Given the description of an element on the screen output the (x, y) to click on. 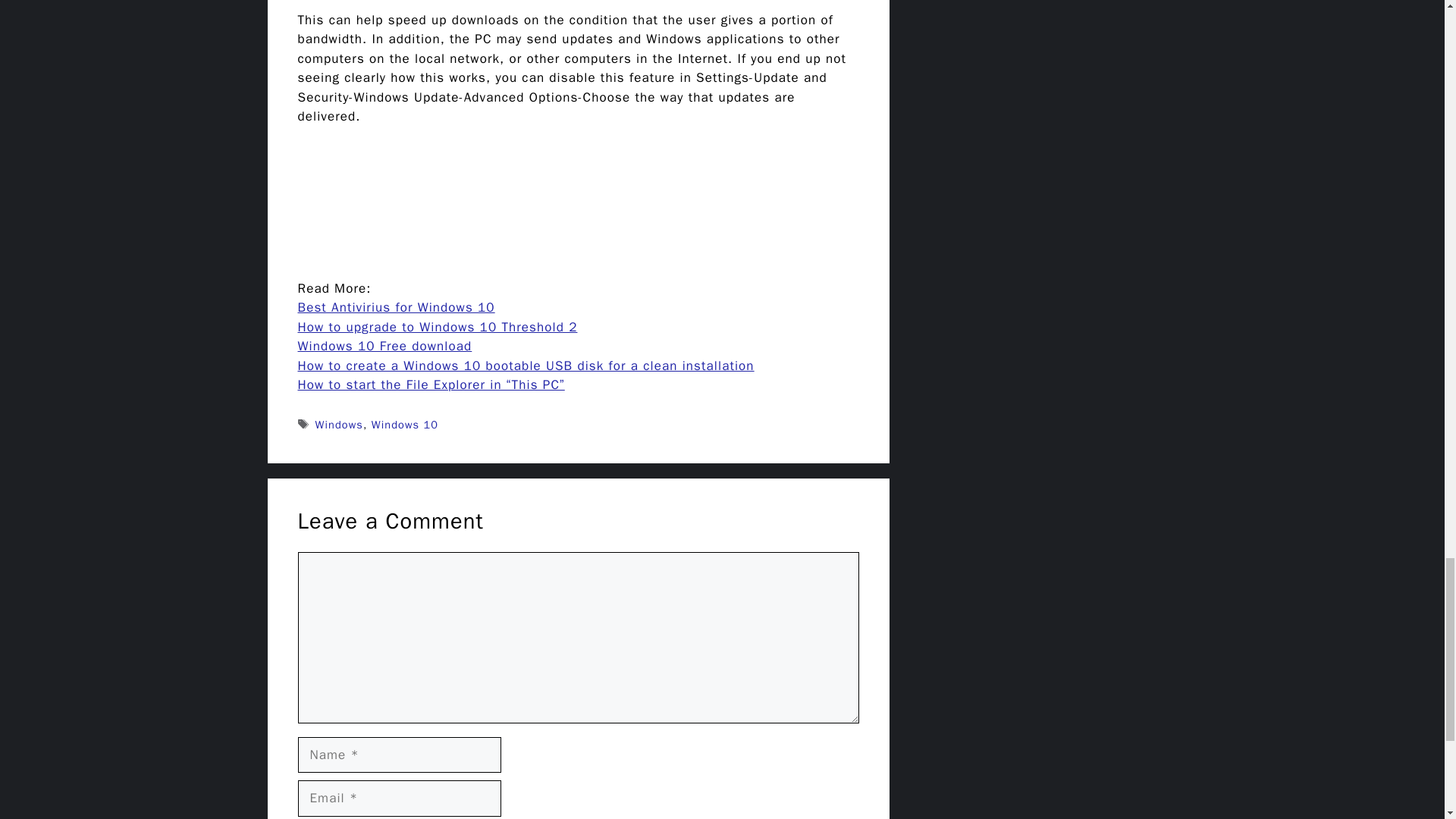
How to upgrade to Windows 10 Threshold 2 (436, 326)
Best Antivirius for Windows 10 (396, 307)
Windows 10 Free download (384, 345)
Windows 10 (404, 424)
Windows (338, 424)
